Given the description of an element on the screen output the (x, y) to click on. 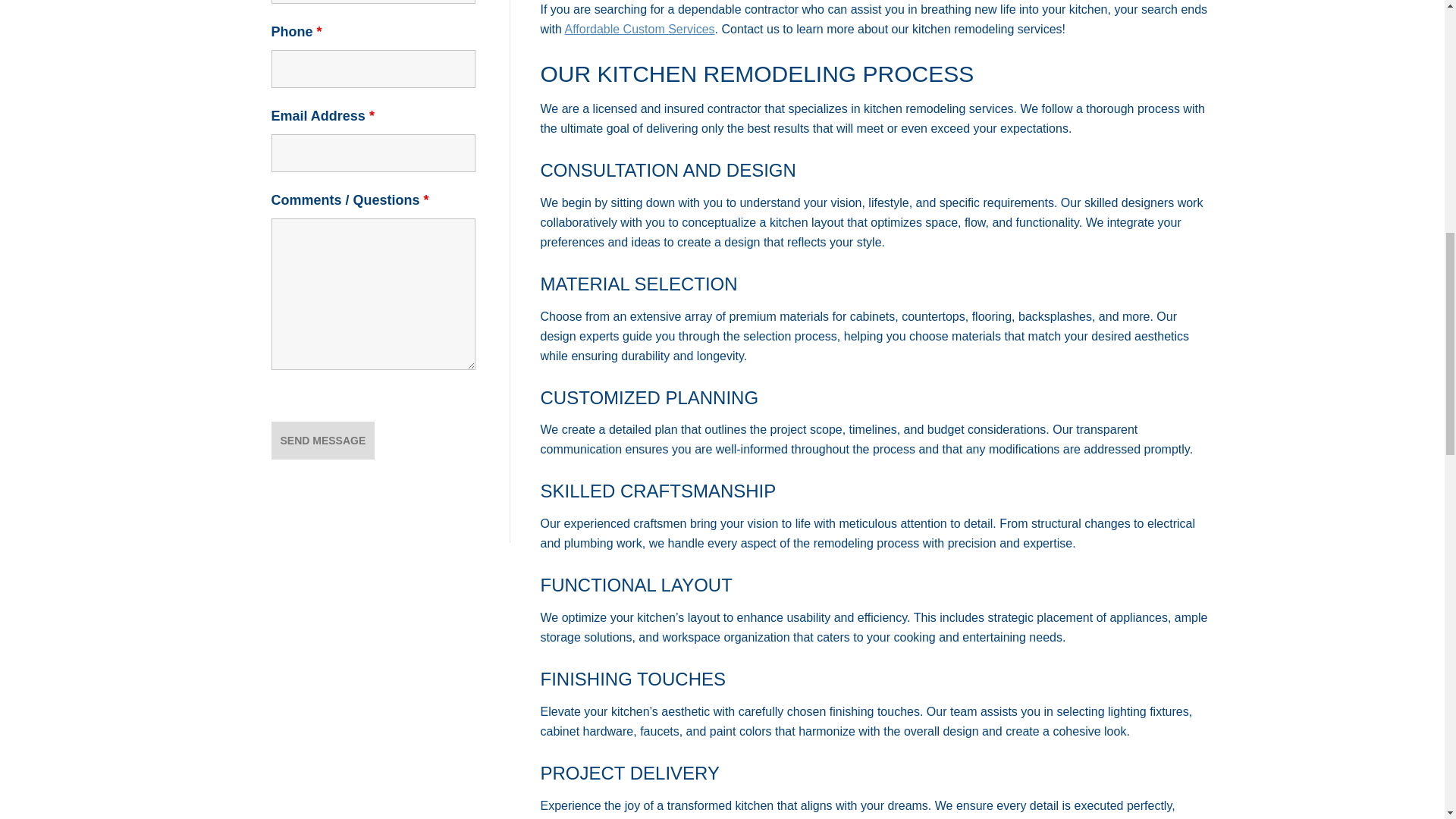
Send Message (322, 440)
Affordable Custom Services (639, 29)
